Given the description of an element on the screen output the (x, y) to click on. 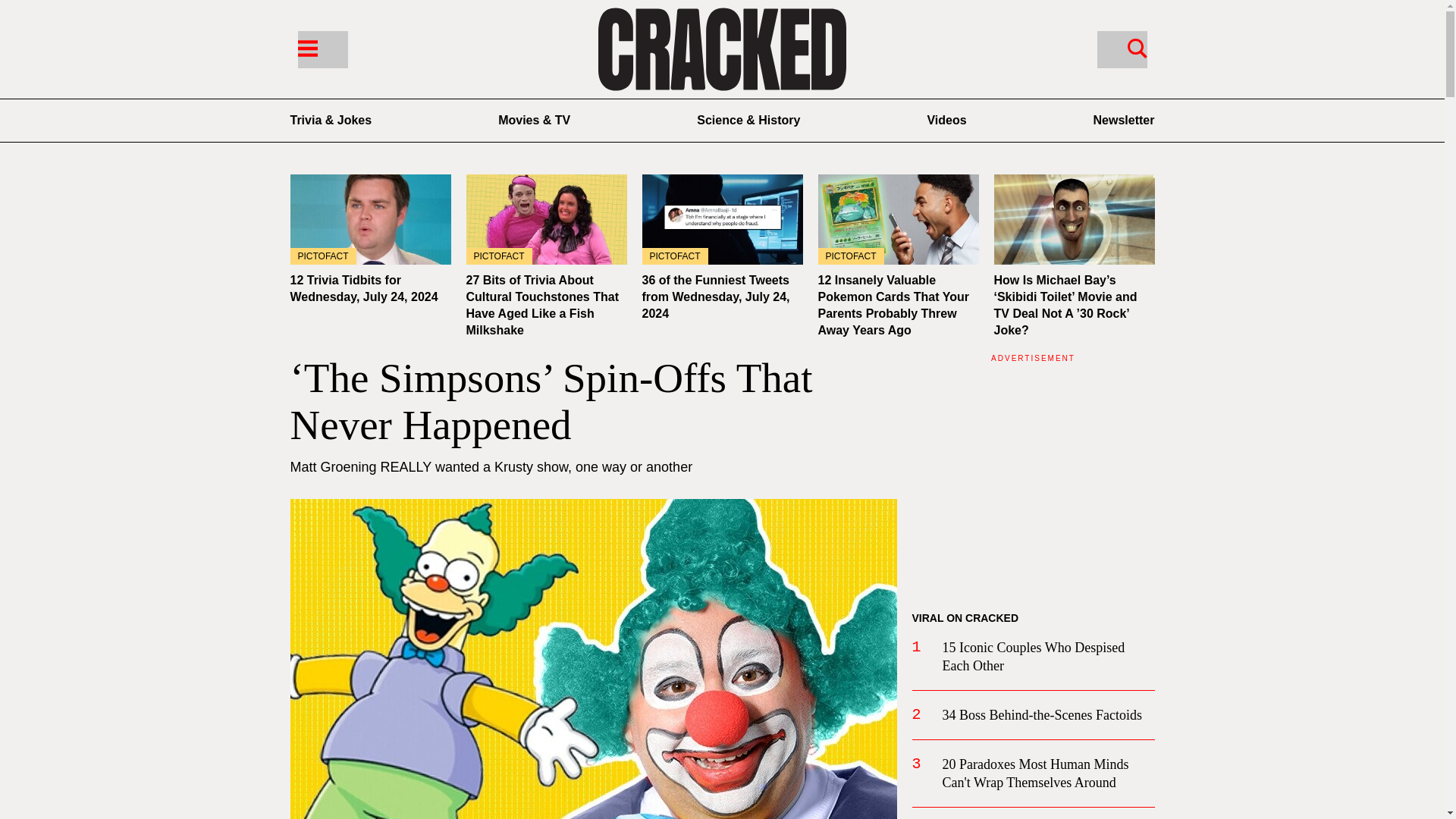
12 Trivia Tidbits for Wednesday, July 24, 2024 (363, 288)
PICTOFACT (545, 219)
Menu (307, 47)
Search (1121, 48)
PICTOFACT (369, 219)
PICTOFACT (897, 219)
PICTOFACT (722, 219)
Newsletter (1123, 119)
12 Trivia Tidbits for Wednesday, July 24, 2024 (369, 219)
Menu (322, 48)
Videos (946, 119)
Cracked Newsletter (1123, 119)
